Given the description of an element on the screen output the (x, y) to click on. 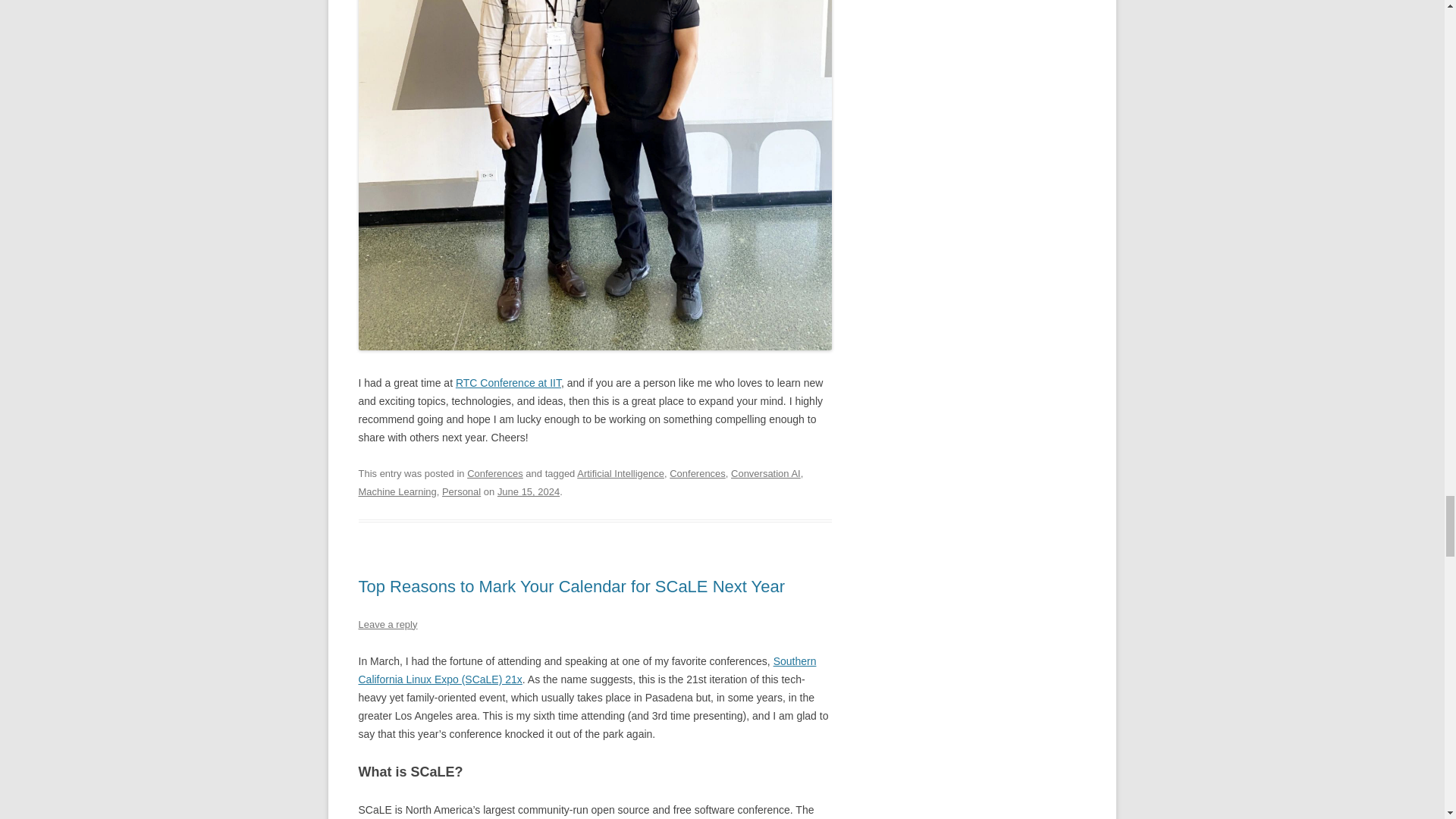
Conversation AI (765, 473)
Conferences (494, 473)
2:42 pm (528, 491)
Conferences (697, 473)
RTC Conference at IIT (507, 382)
Artificial Intelligence (619, 473)
